Given the description of an element on the screen output the (x, y) to click on. 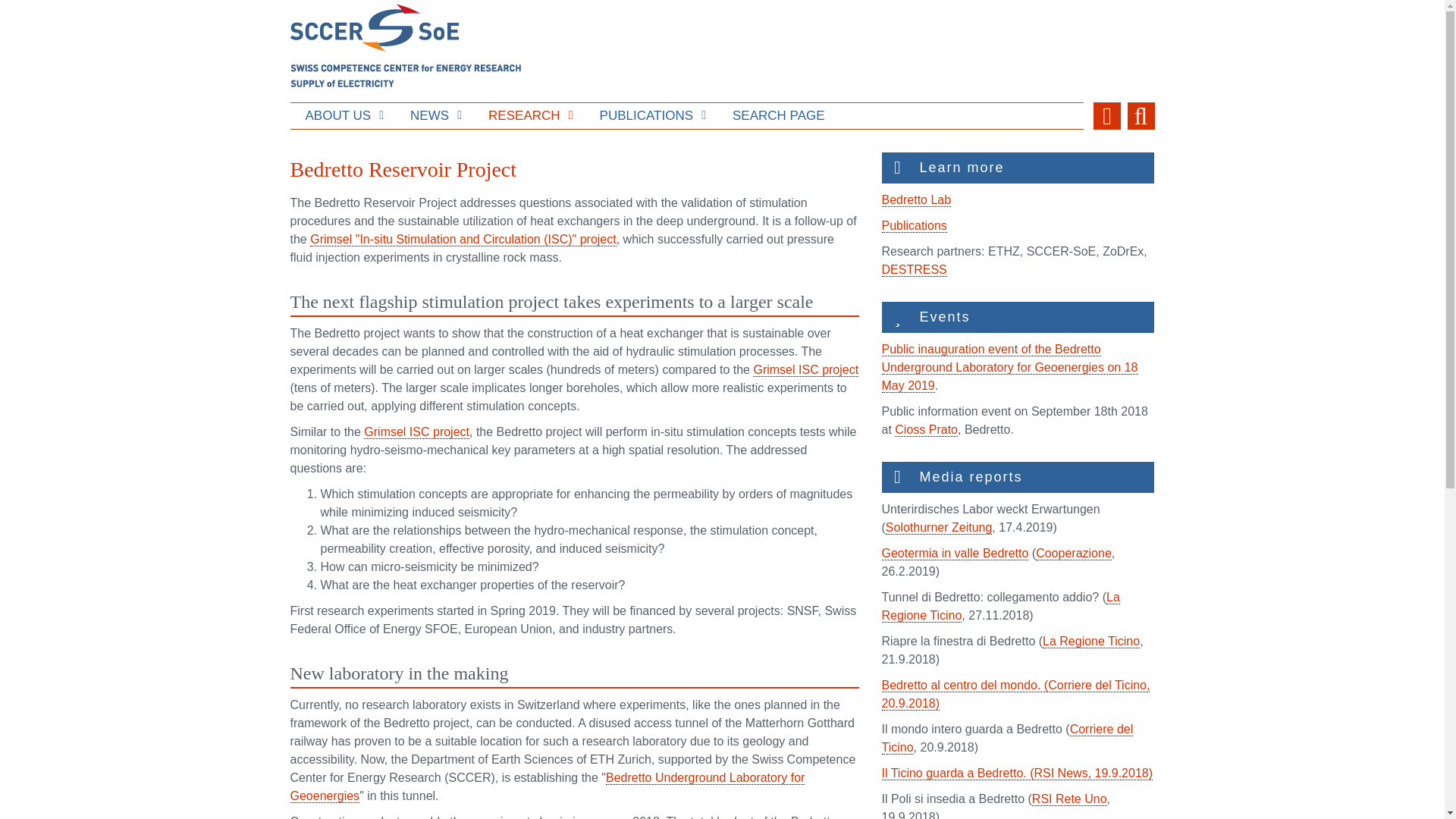
RESEARCH (528, 115)
NEWS (433, 115)
ABOUT US (341, 115)
